Given the description of an element on the screen output the (x, y) to click on. 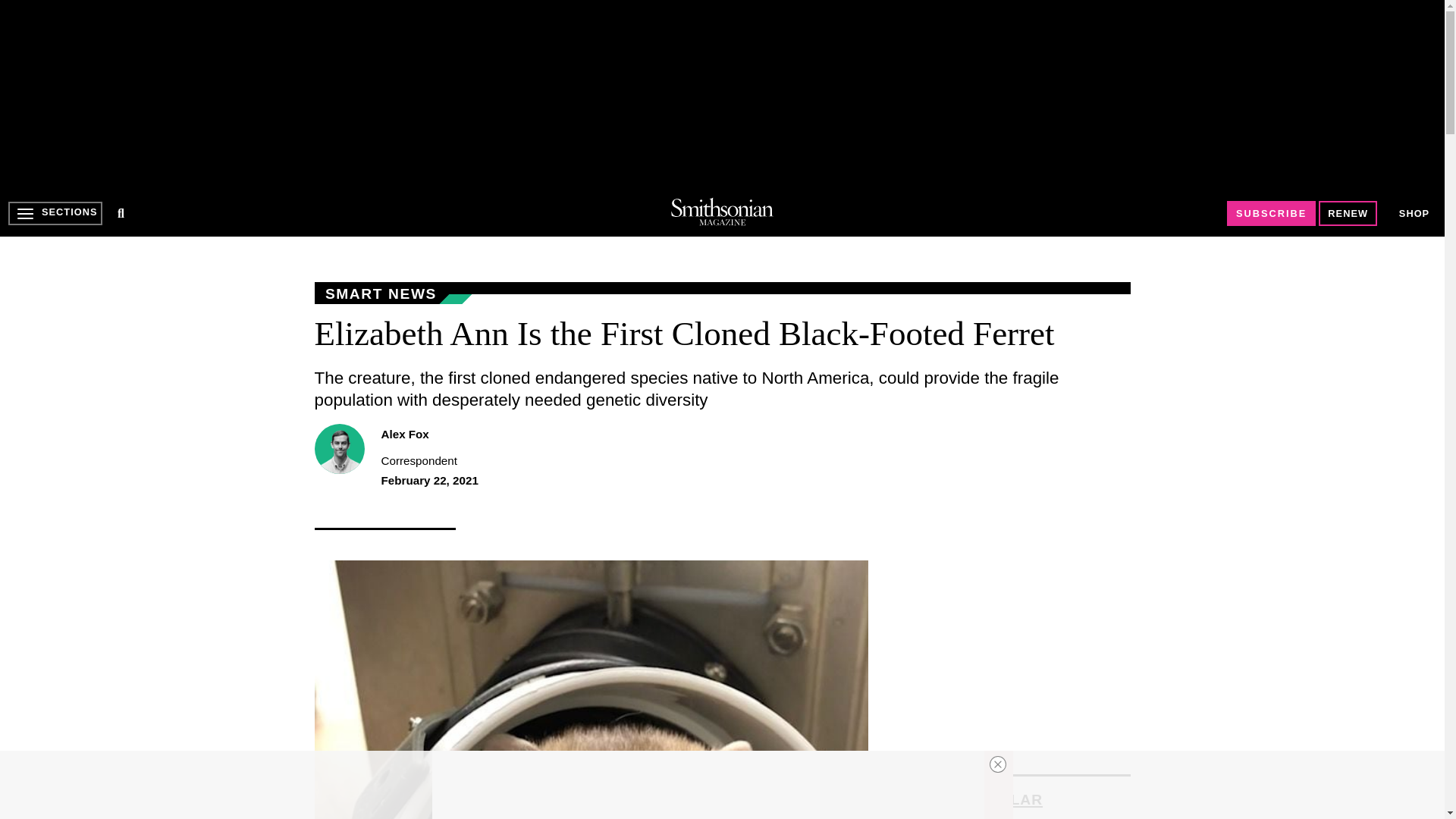
SHOP (1414, 213)
SECTIONS (55, 213)
SHOP (1413, 212)
RENEW (1347, 212)
3rd party ad content (721, 94)
3rd party ad content (708, 785)
RENEW (1348, 213)
3rd party ad content (1015, 655)
SUBSCRIBE (1271, 212)
SUBSCRIBE (1271, 213)
